Given the description of an element on the screen output the (x, y) to click on. 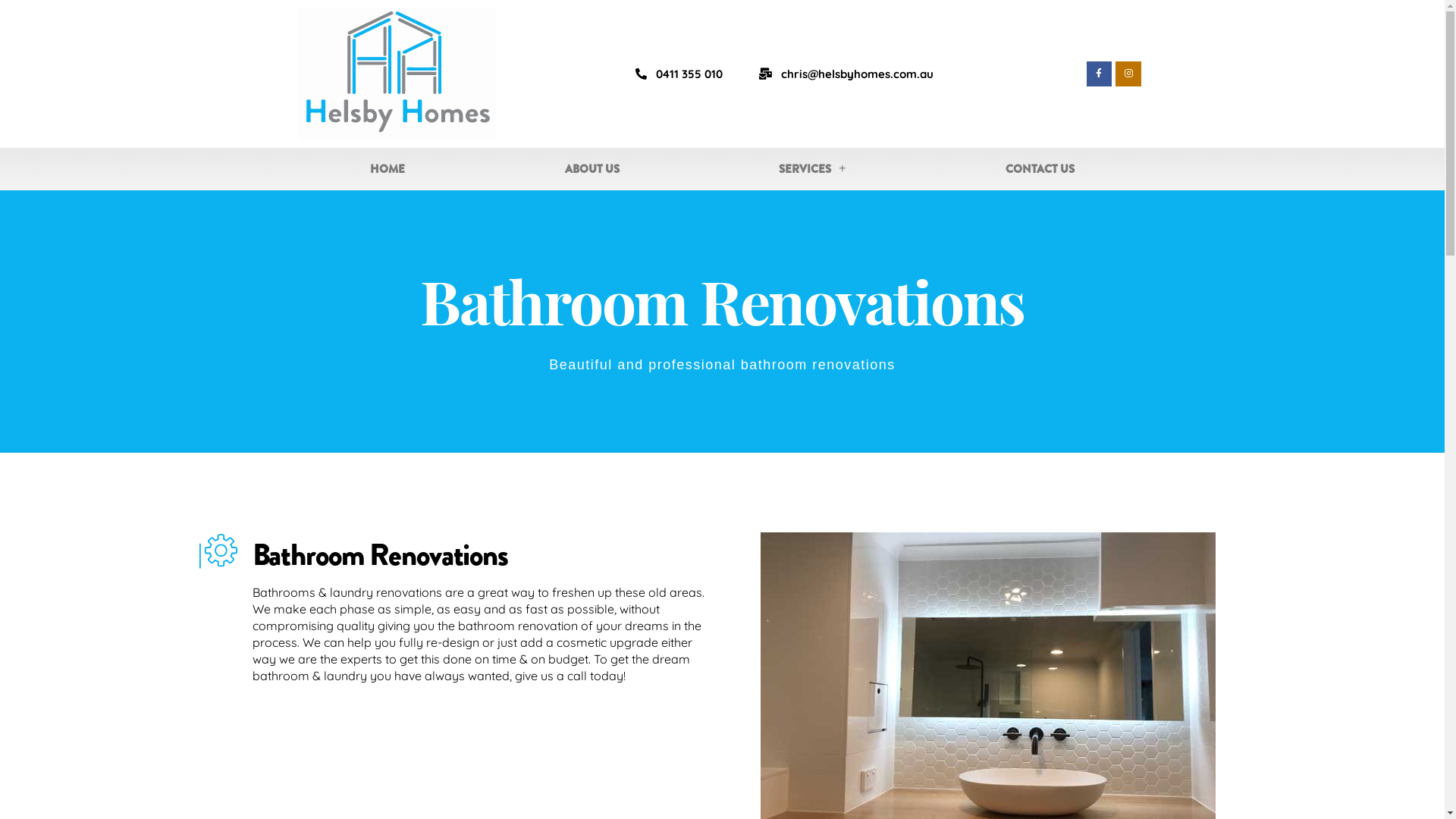
HOME Element type: text (386, 168)
chris@helsbyhomes.com.au Element type: text (845, 73)
ABOUT US Element type: text (591, 168)
CONTACT US Element type: text (1039, 168)
SERVICES Element type: text (812, 168)
0411 355 010 Element type: text (678, 73)
